Given the description of an element on the screen output the (x, y) to click on. 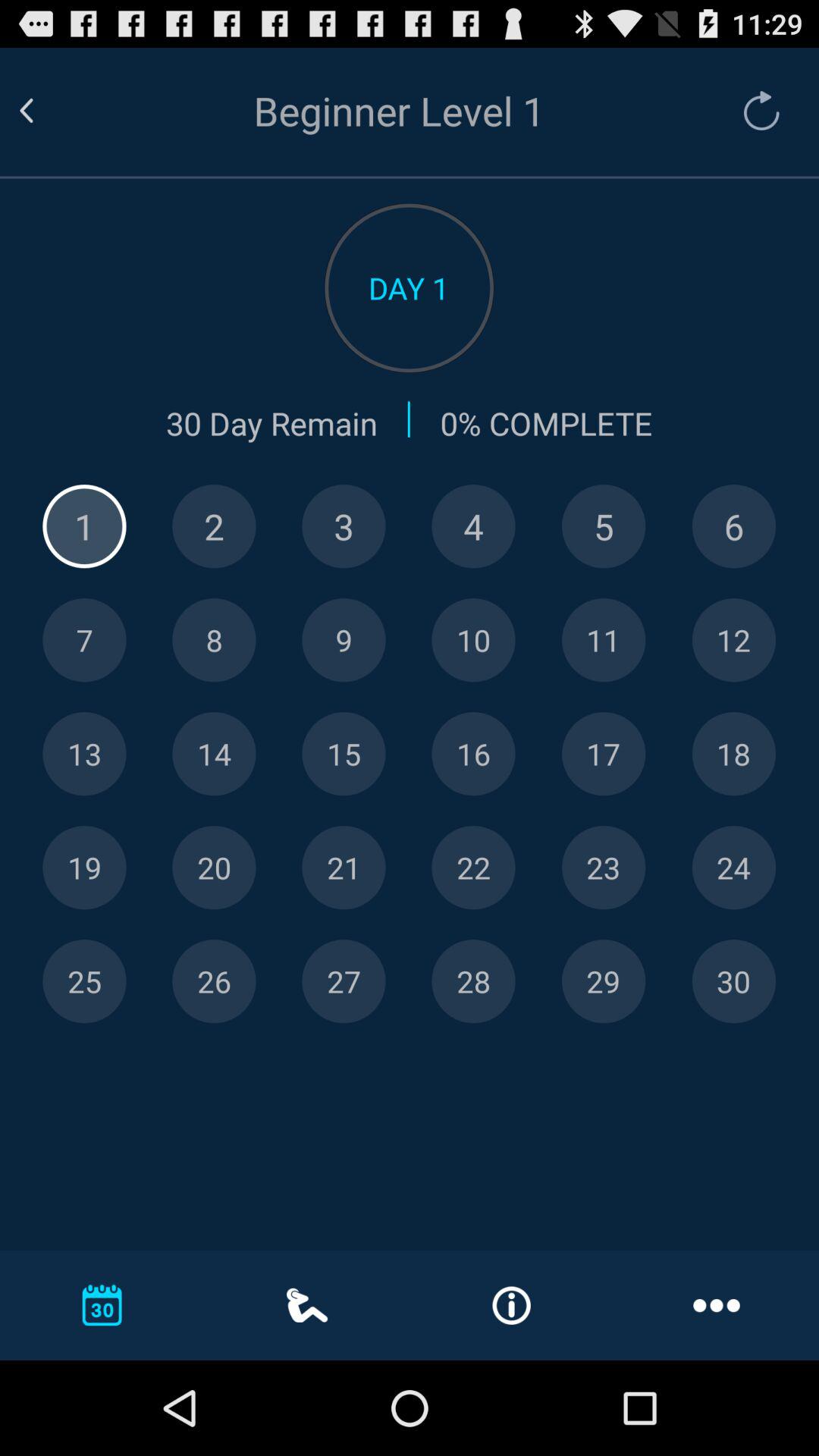
day select button (733, 867)
